Given the description of an element on the screen output the (x, y) to click on. 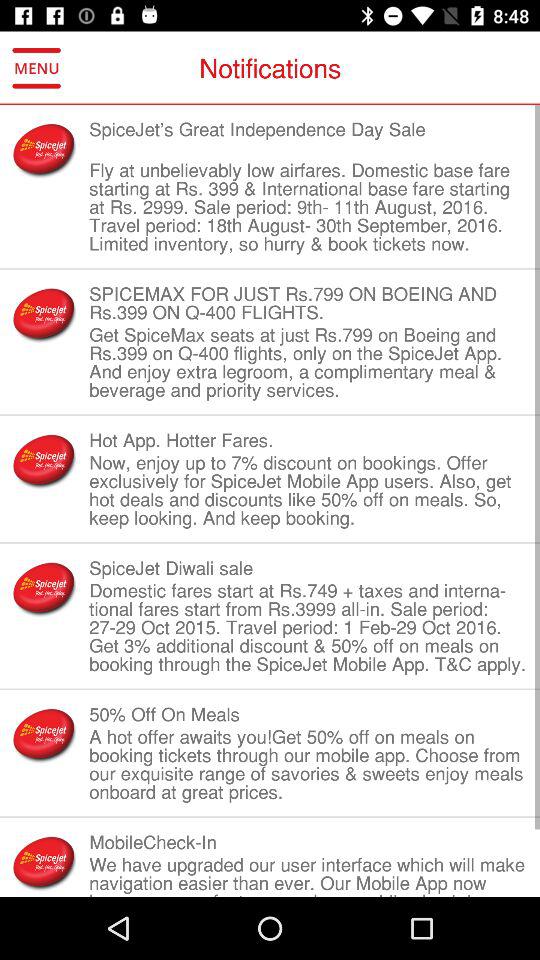
select the item above domestic fares start item (307, 567)
